Given the description of an element on the screen output the (x, y) to click on. 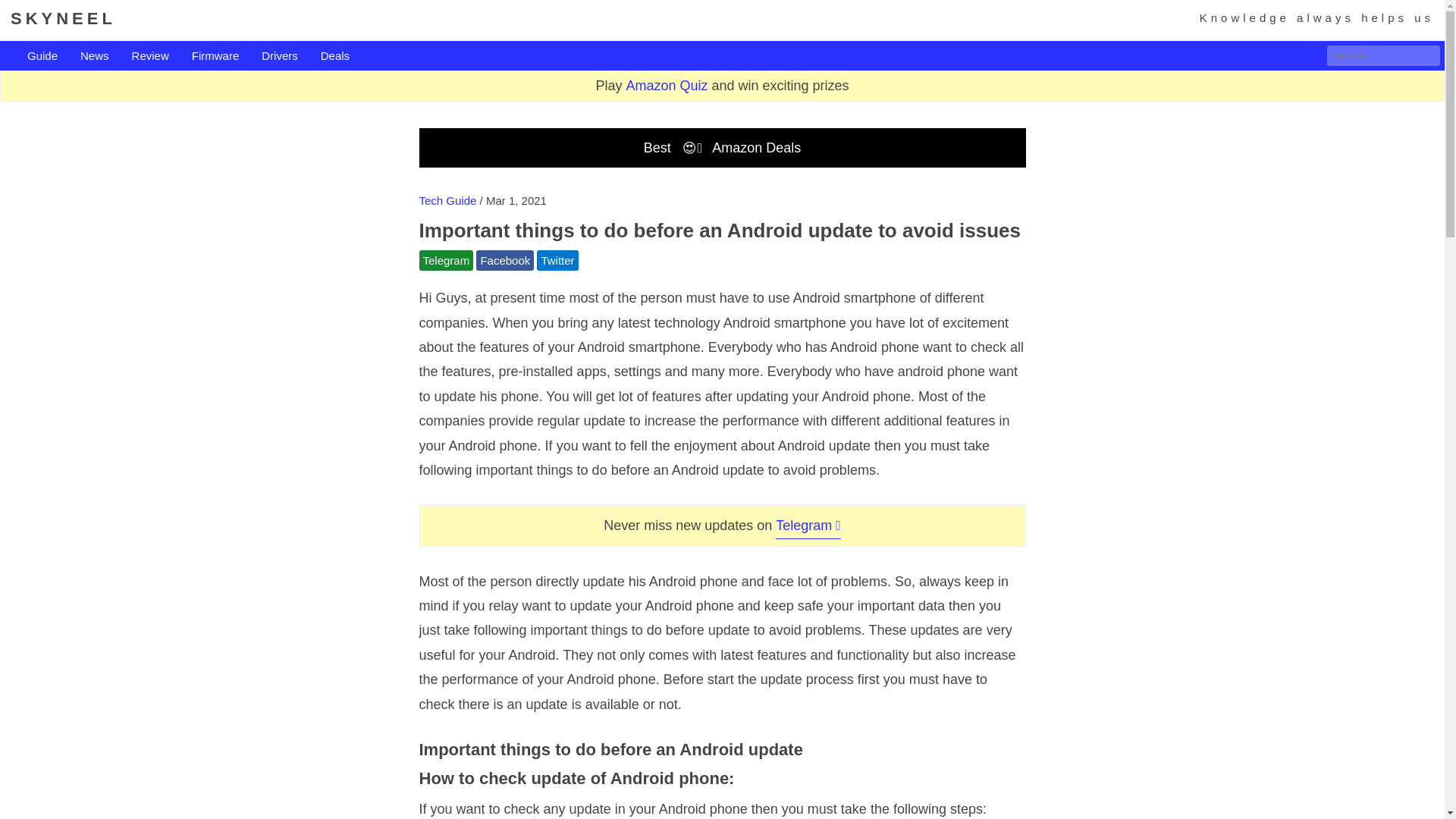
Search for (1382, 55)
Amazon Quiz (666, 85)
SKYNEEL (63, 18)
Join us on Twitter (557, 260)
Drivers (280, 55)
News (94, 55)
Join us on Telegram (446, 260)
Join us on Facebook (505, 260)
Join us on Telegram (808, 525)
Twitter (557, 260)
